Given the description of an element on the screen output the (x, y) to click on. 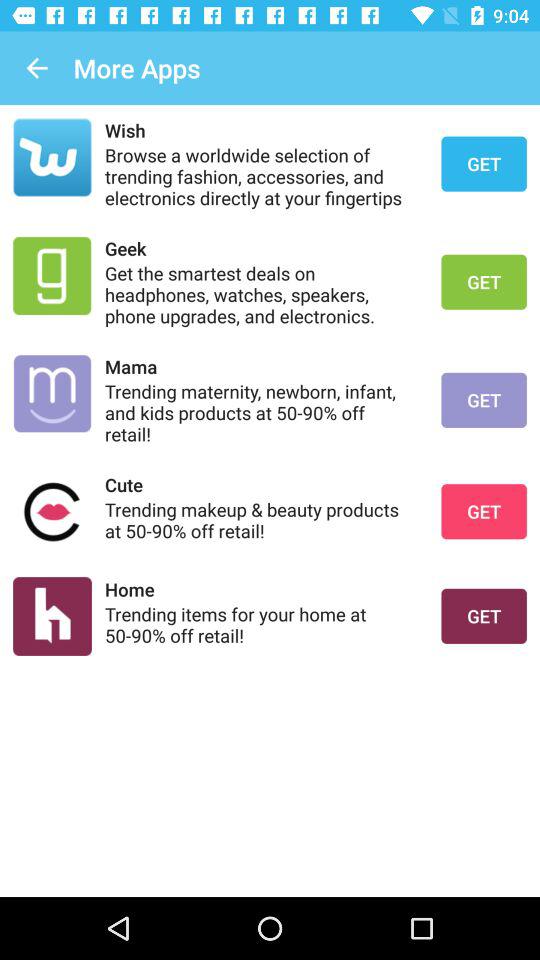
scroll until the browse a worldwide (260, 176)
